Given the description of an element on the screen output the (x, y) to click on. 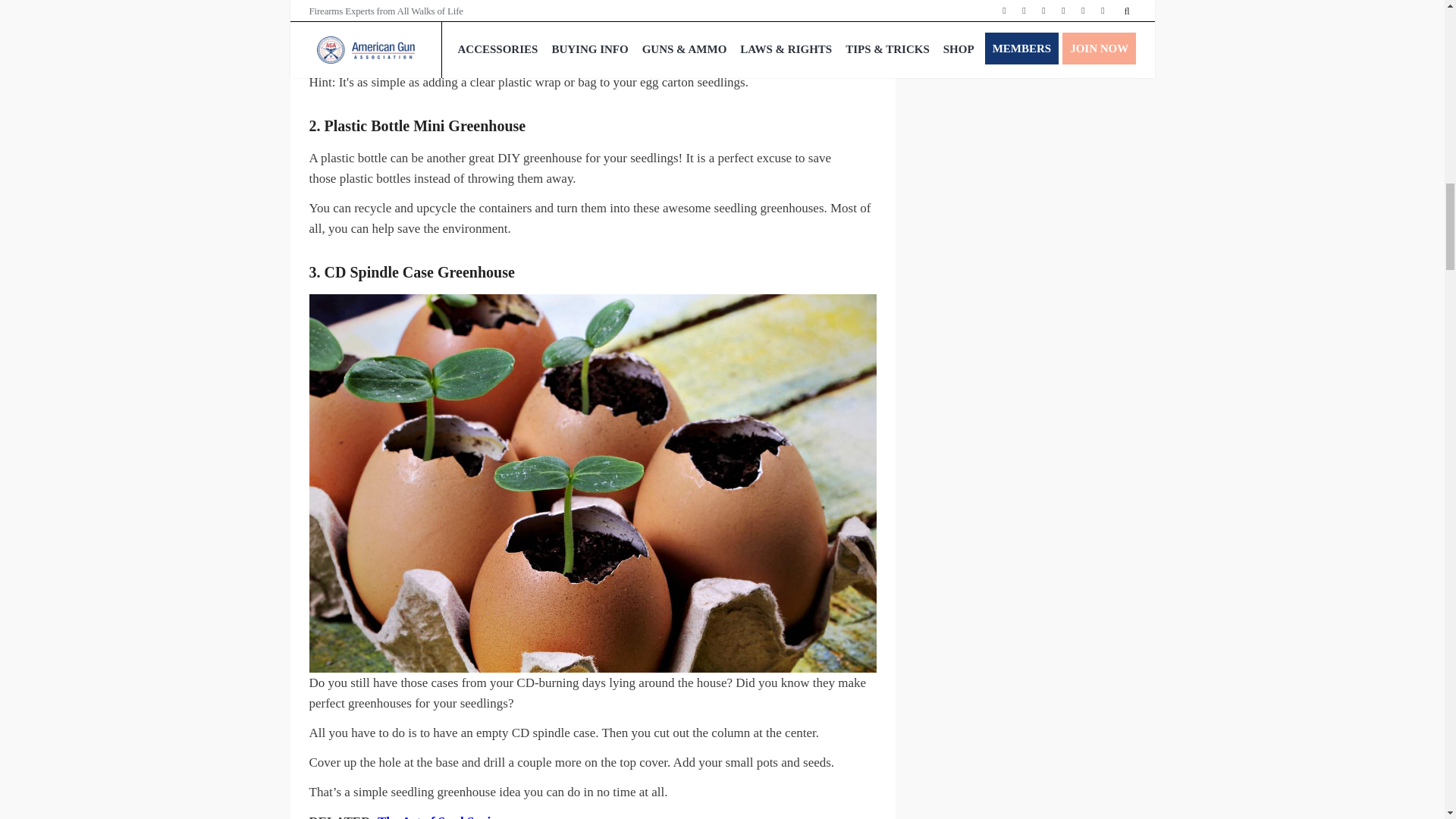
Survival Life (650, 0)
egg carton seedling (411, 32)
The Art of Seed Saving (440, 816)
